Given the description of an element on the screen output the (x, y) to click on. 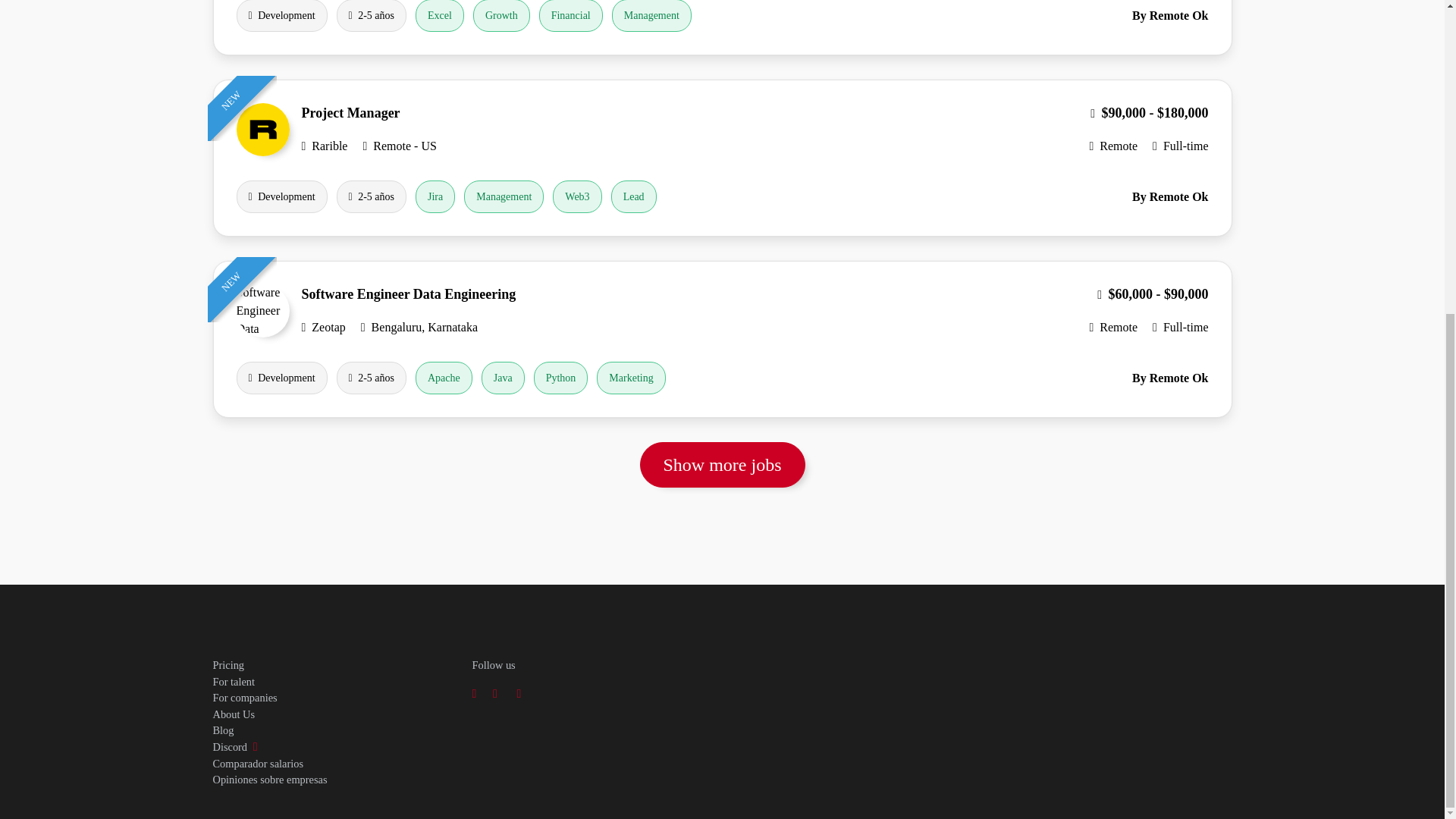
For talent (233, 681)
About Us (233, 714)
Comparador salarios (257, 763)
Opiniones sobre empresas (269, 779)
Discord (241, 746)
Pricing (228, 664)
translation missing: en.blog (222, 729)
Show more jobs (722, 464)
translation missing: en.About us (233, 714)
Blog (222, 729)
For companies (244, 697)
